Given the description of an element on the screen output the (x, y) to click on. 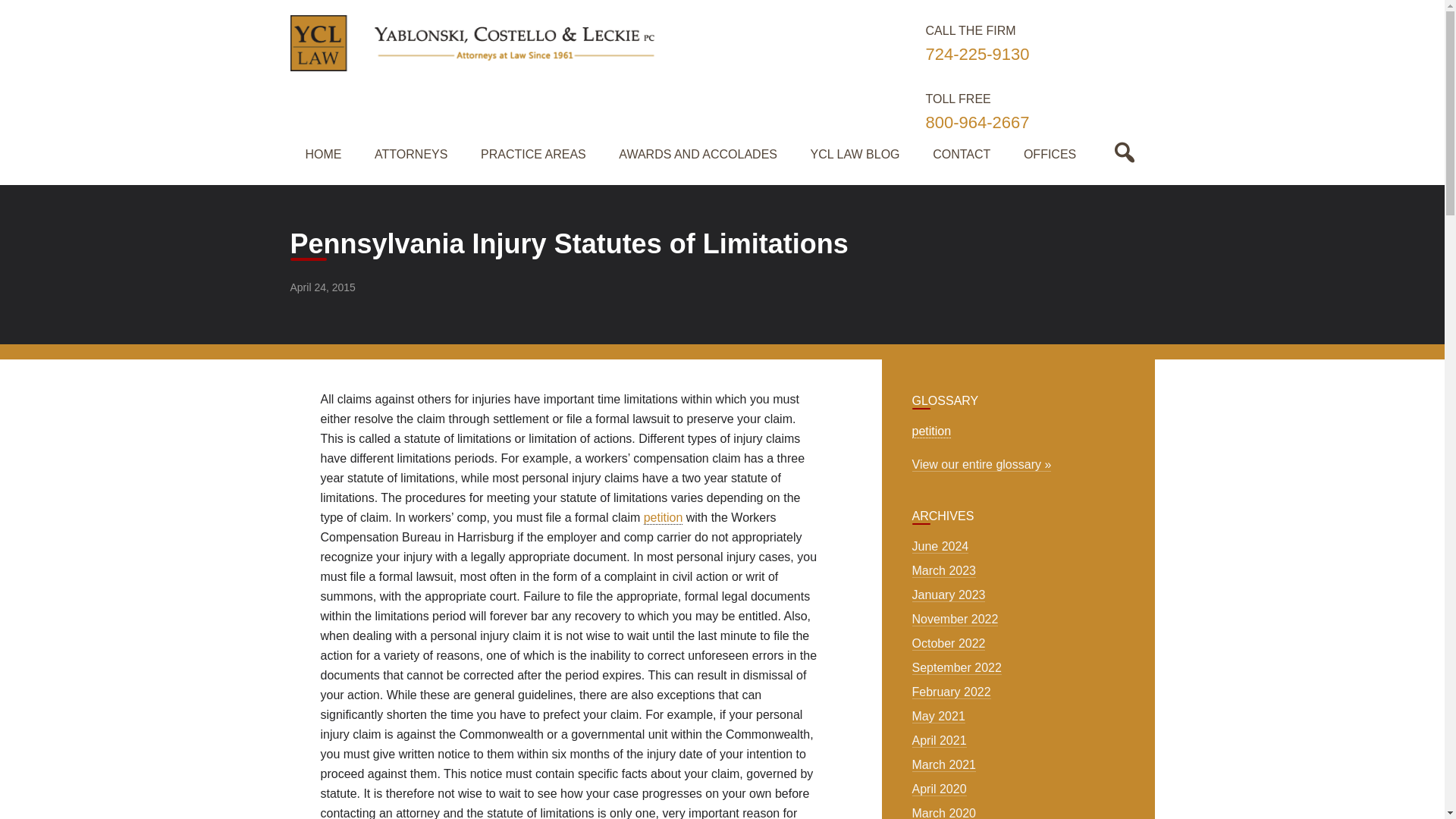
May 2021 (938, 716)
YCL LAW BLOG (856, 154)
March 2021 (944, 765)
HOME (324, 154)
June 2024 (940, 546)
September 2022 (956, 667)
March 2023 (944, 571)
January 2023 (948, 594)
OFFICES (1051, 154)
March 2020 (944, 812)
